Given the description of an element on the screen output the (x, y) to click on. 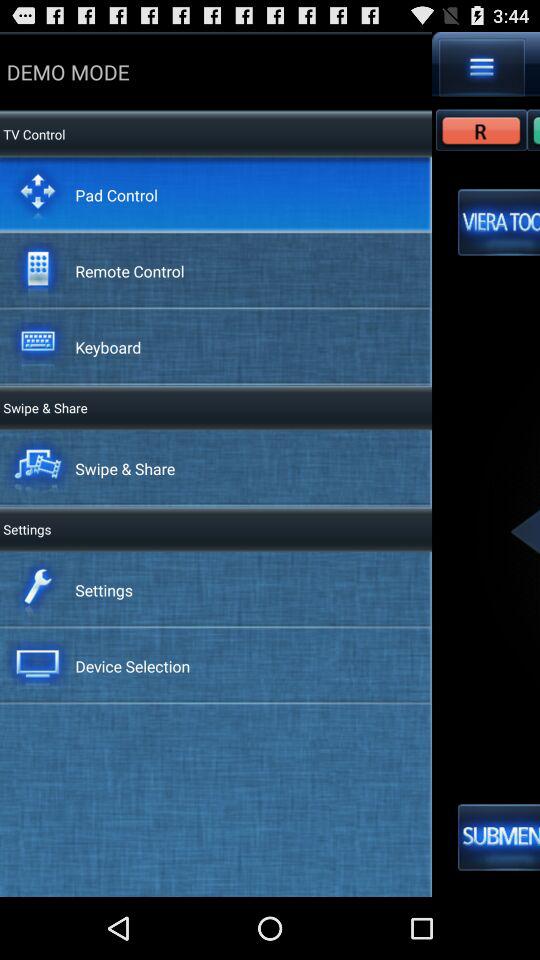
select item at the bottom right corner (499, 837)
